Given the description of an element on the screen output the (x, y) to click on. 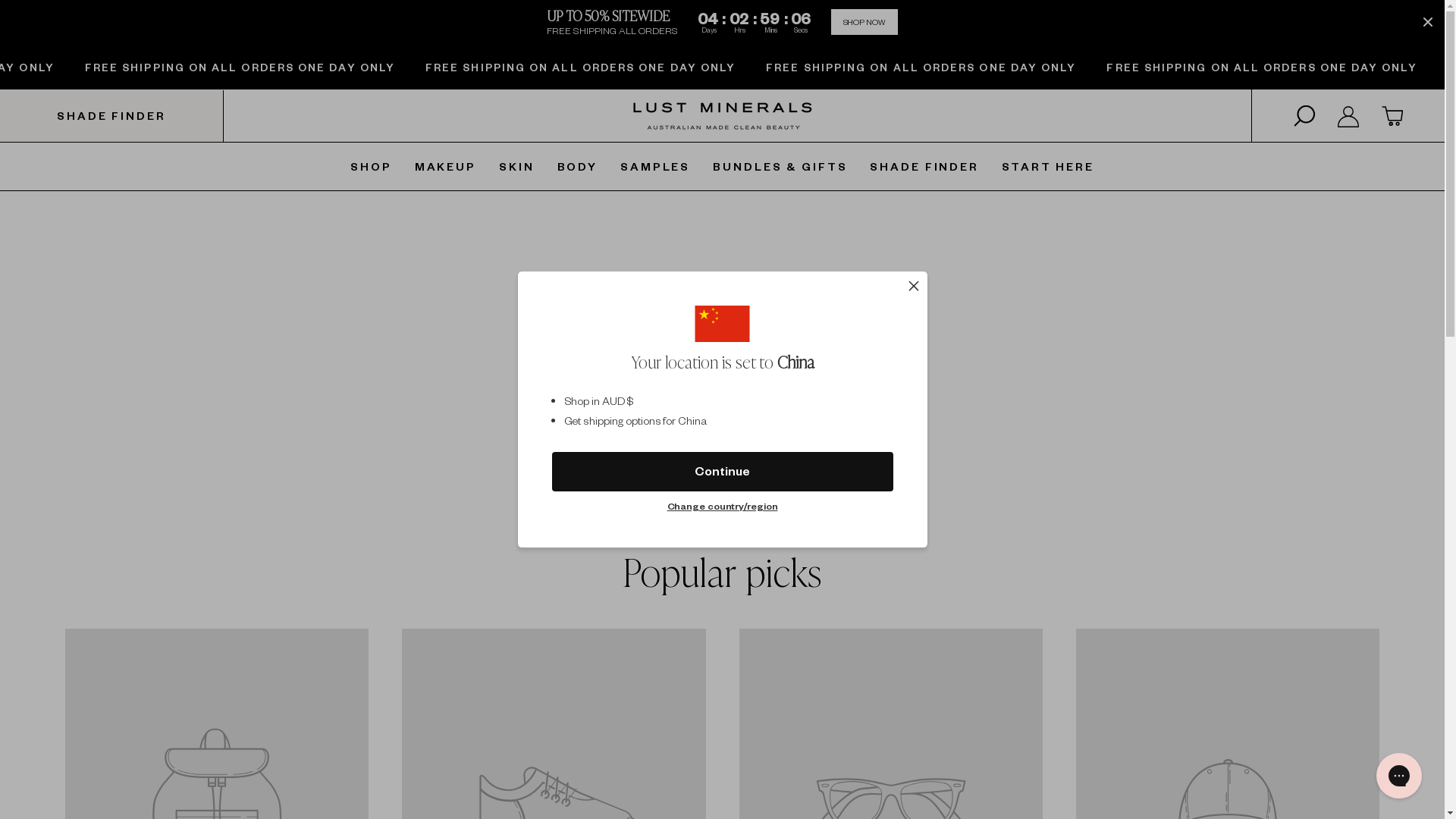
SHOP NOW Element type: text (864, 21)
Continue shopping Element type: text (721, 390)
Gorgias live chat messenger Element type: hover (1398, 775)
SHOP Element type: text (370, 165)
Continue Element type: text (722, 471)
Change country/region Element type: text (722, 505)
Log in Element type: text (1348, 115)
SHADE FINDER Element type: text (111, 115)
SHADE FINDER Element type: text (924, 165)
